Given the description of an element on the screen output the (x, y) to click on. 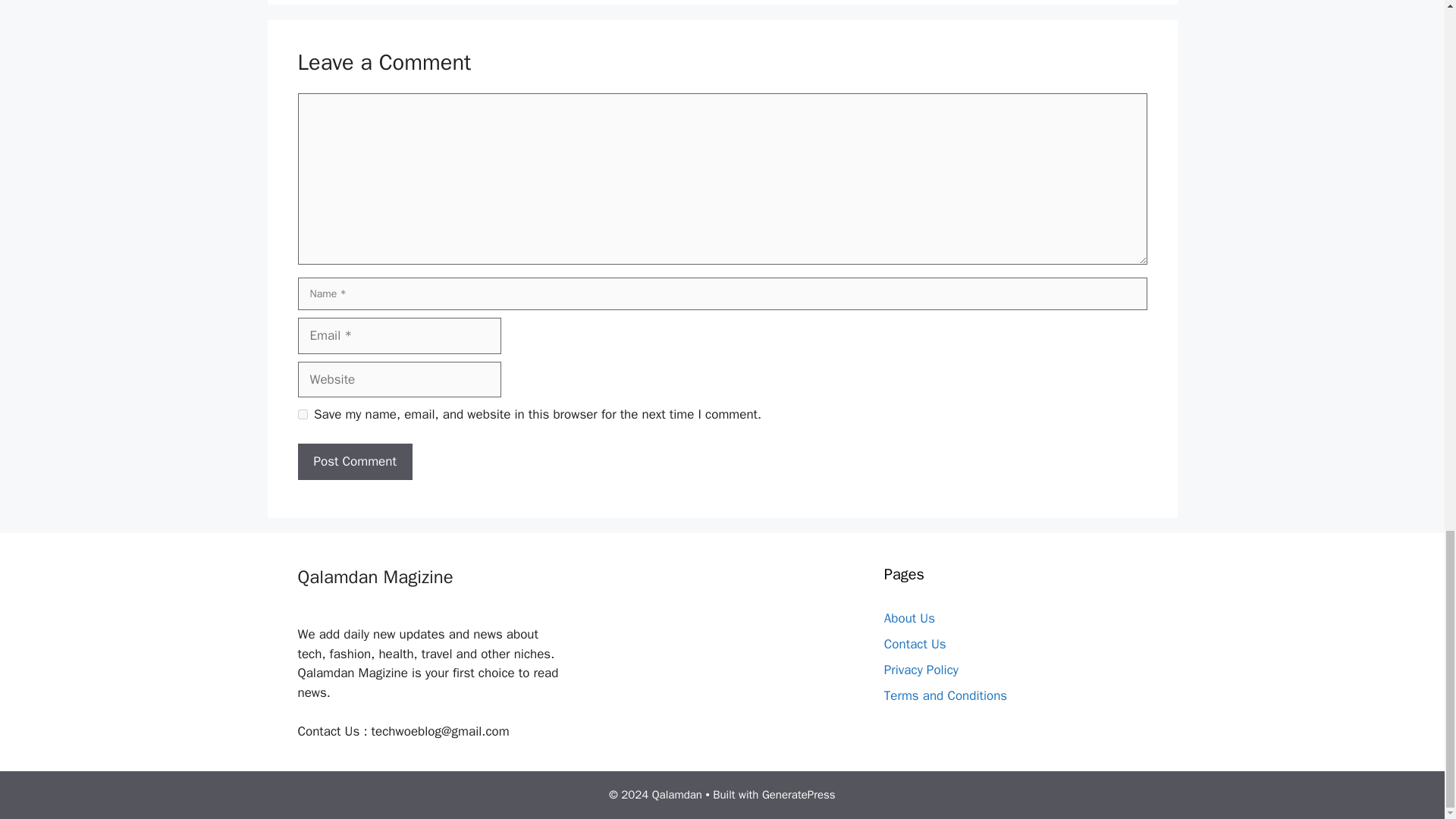
Scroll back to top (1406, 7)
Post Comment (354, 461)
GeneratePress (798, 794)
Terms and Conditions (945, 695)
yes (302, 414)
Contact Us (914, 643)
Post Comment (354, 461)
Privacy Policy (920, 669)
About Us (908, 618)
